Given the description of an element on the screen output the (x, y) to click on. 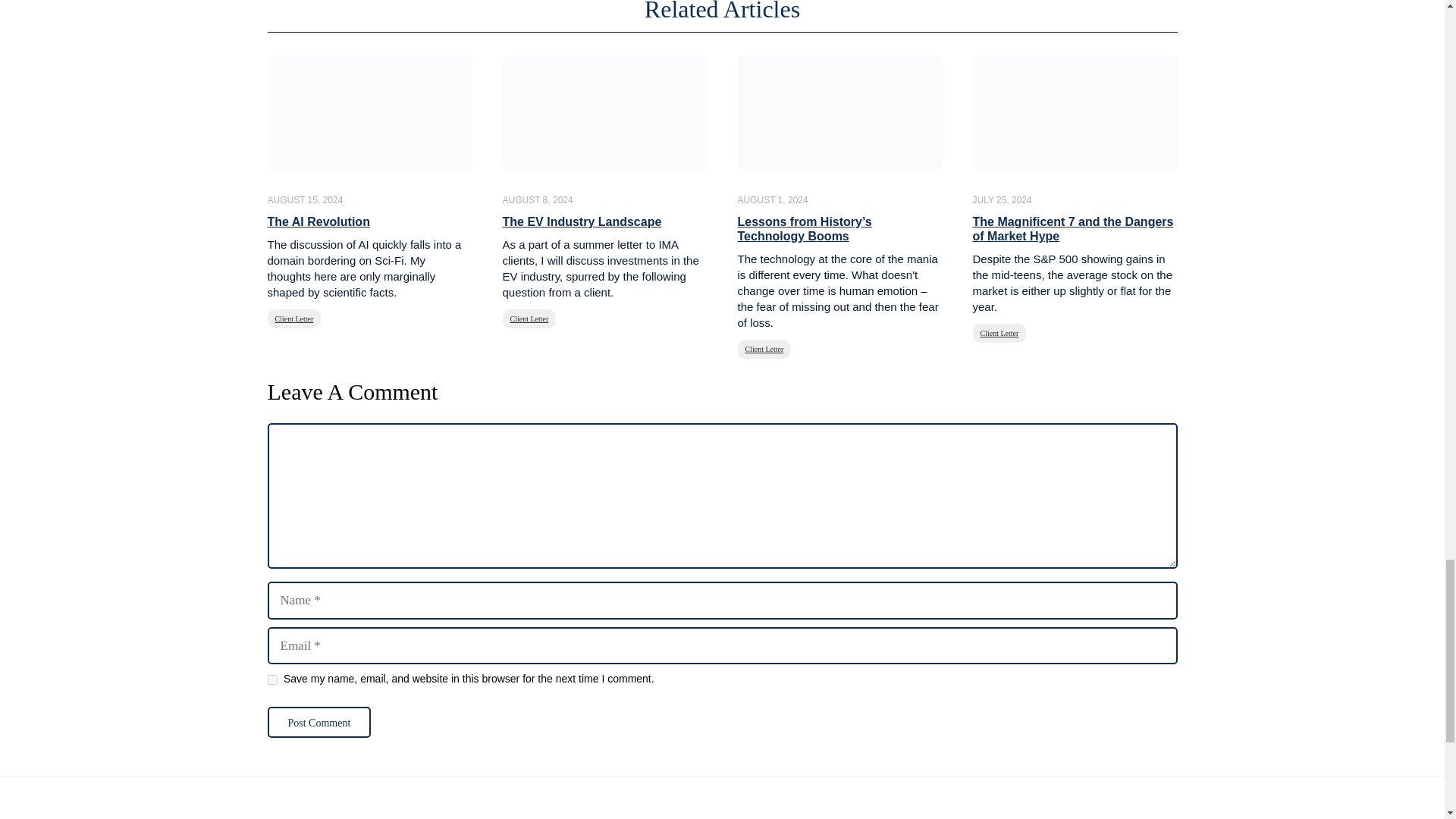
The Magnificent 7 and the Dangers of Market Hype (1072, 228)
The EV Industry Landscape (581, 221)
yes (271, 679)
The AI Revolution (317, 221)
Client Letter (763, 348)
Client Letter (293, 318)
Post Comment (318, 721)
Client Letter (529, 318)
